Given the description of an element on the screen output the (x, y) to click on. 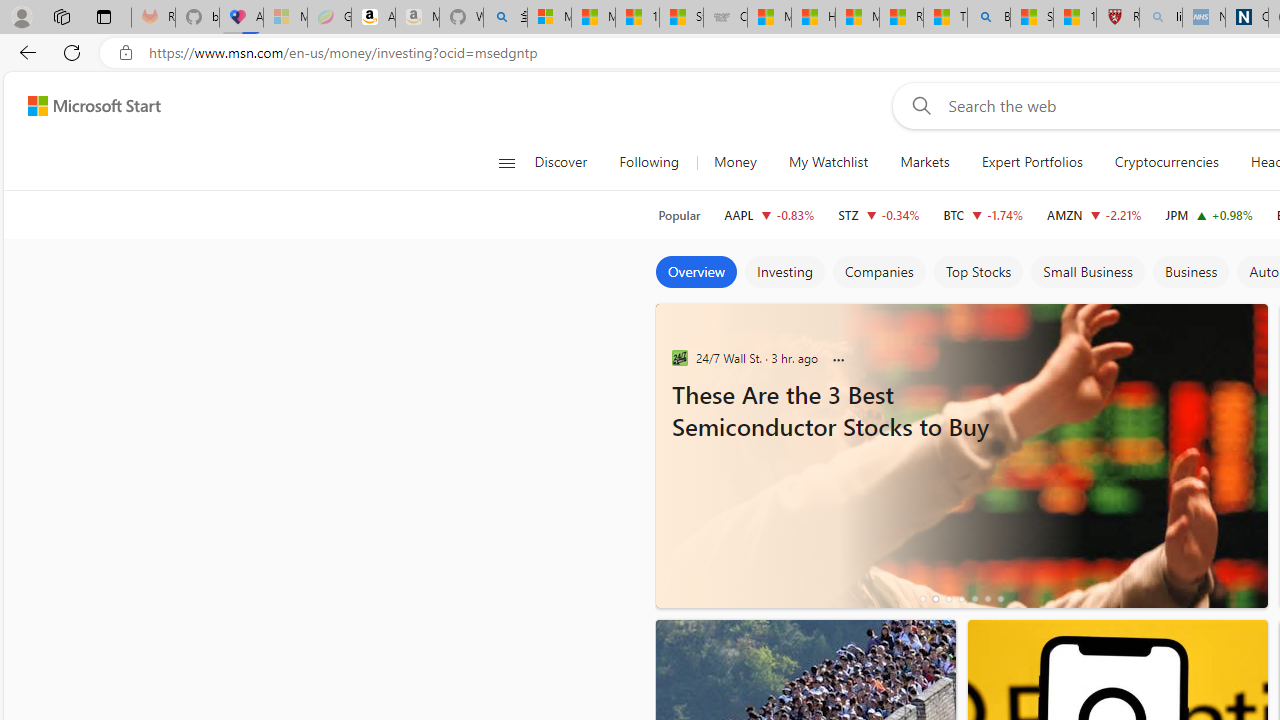
JPM JPMORGAN CHASE & CO. increase 216.71 +2.11 +0.98% (1208, 214)
My Watchlist (827, 162)
Top Stocks (977, 272)
